Given the description of an element on the screen output the (x, y) to click on. 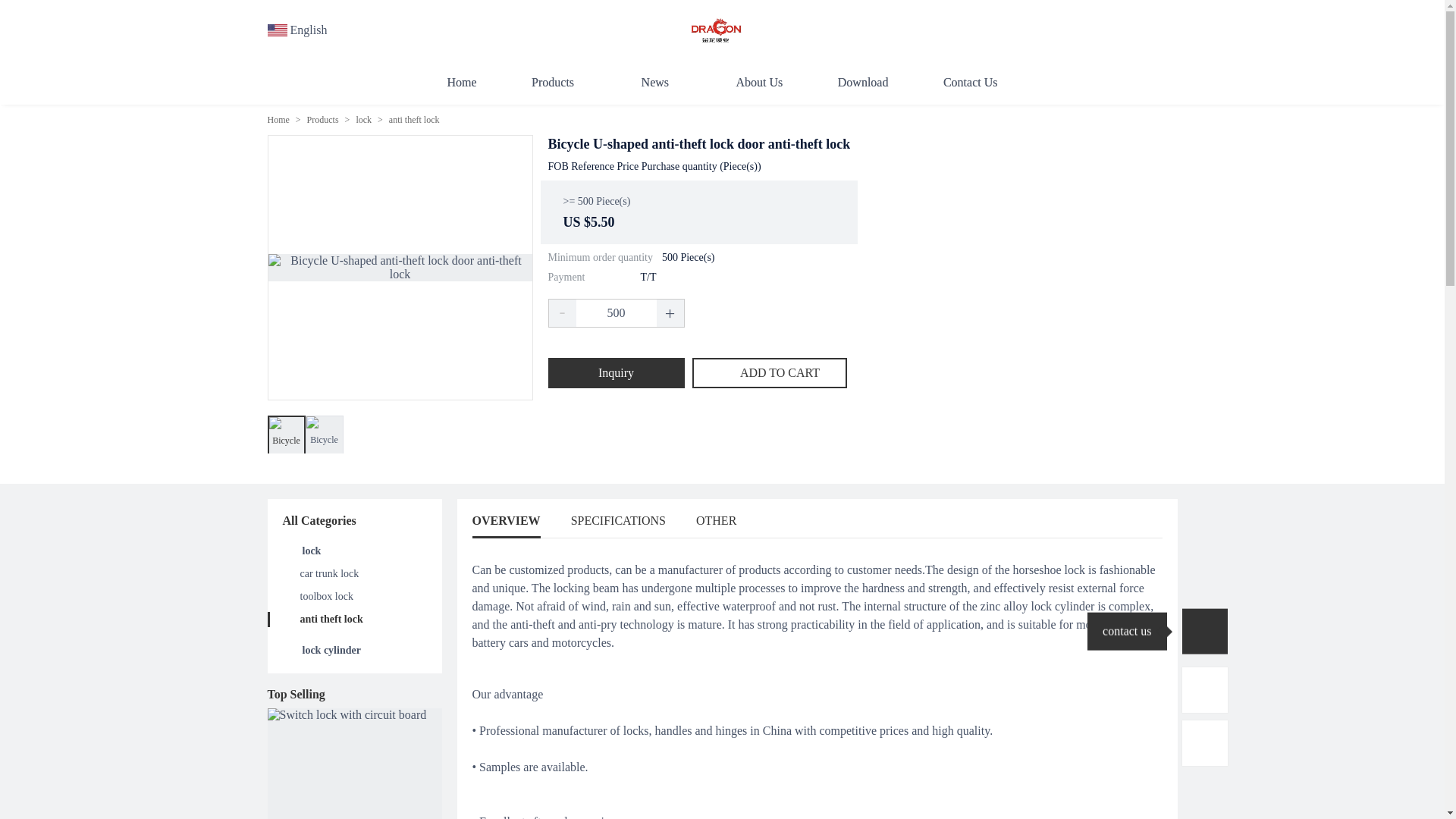
lock (363, 119)
lock cylinder (330, 650)
Home (277, 119)
Products (323, 119)
Contact Us (970, 82)
toolbox lock (326, 595)
anti theft lock (330, 618)
anti theft lock (413, 119)
About Us (759, 82)
News (661, 82)
car trunk lock (329, 573)
lock (310, 550)
500 (616, 312)
Download (863, 82)
Switch lock with circuit board (353, 763)
